Given the description of an element on the screen output the (x, y) to click on. 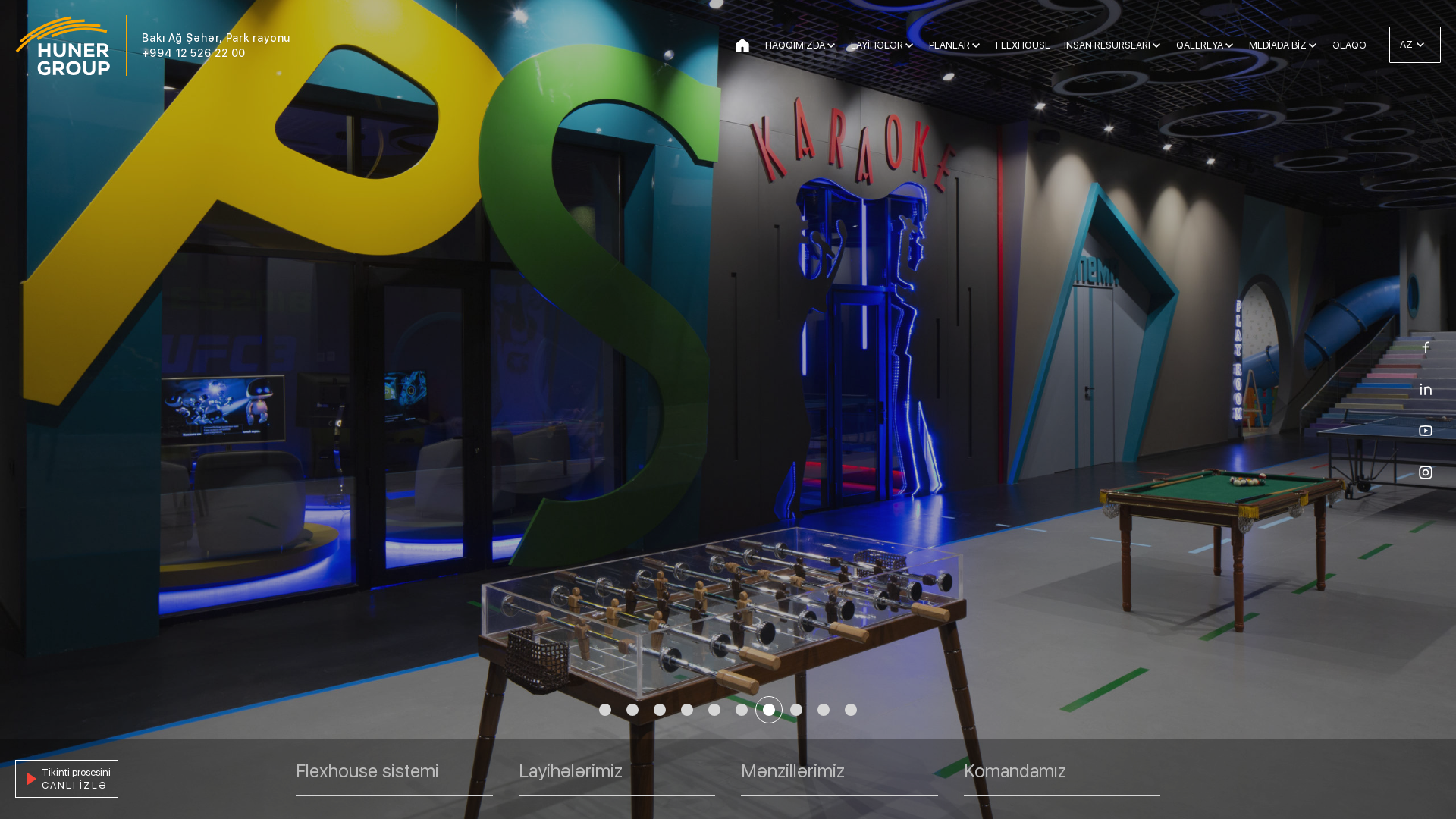
2 Element type: text (632, 709)
Flexhouse sistemi Element type: text (393, 778)
4 Element type: text (686, 709)
PLANLAR Element type: text (955, 45)
QALEREYA Element type: text (1205, 45)
FLEXHOUSE Element type: text (1022, 45)
9 Element type: text (823, 709)
3 Element type: text (659, 709)
7 Element type: text (768, 709)
8 Element type: text (795, 709)
HAQQIMIZDA Element type: text (801, 45)
5 Element type: text (714, 709)
10 Element type: text (850, 709)
Ana Sahife Element type: text (742, 45)
1 Element type: text (604, 709)
6 Element type: text (741, 709)
